Given the description of an element on the screen output the (x, y) to click on. 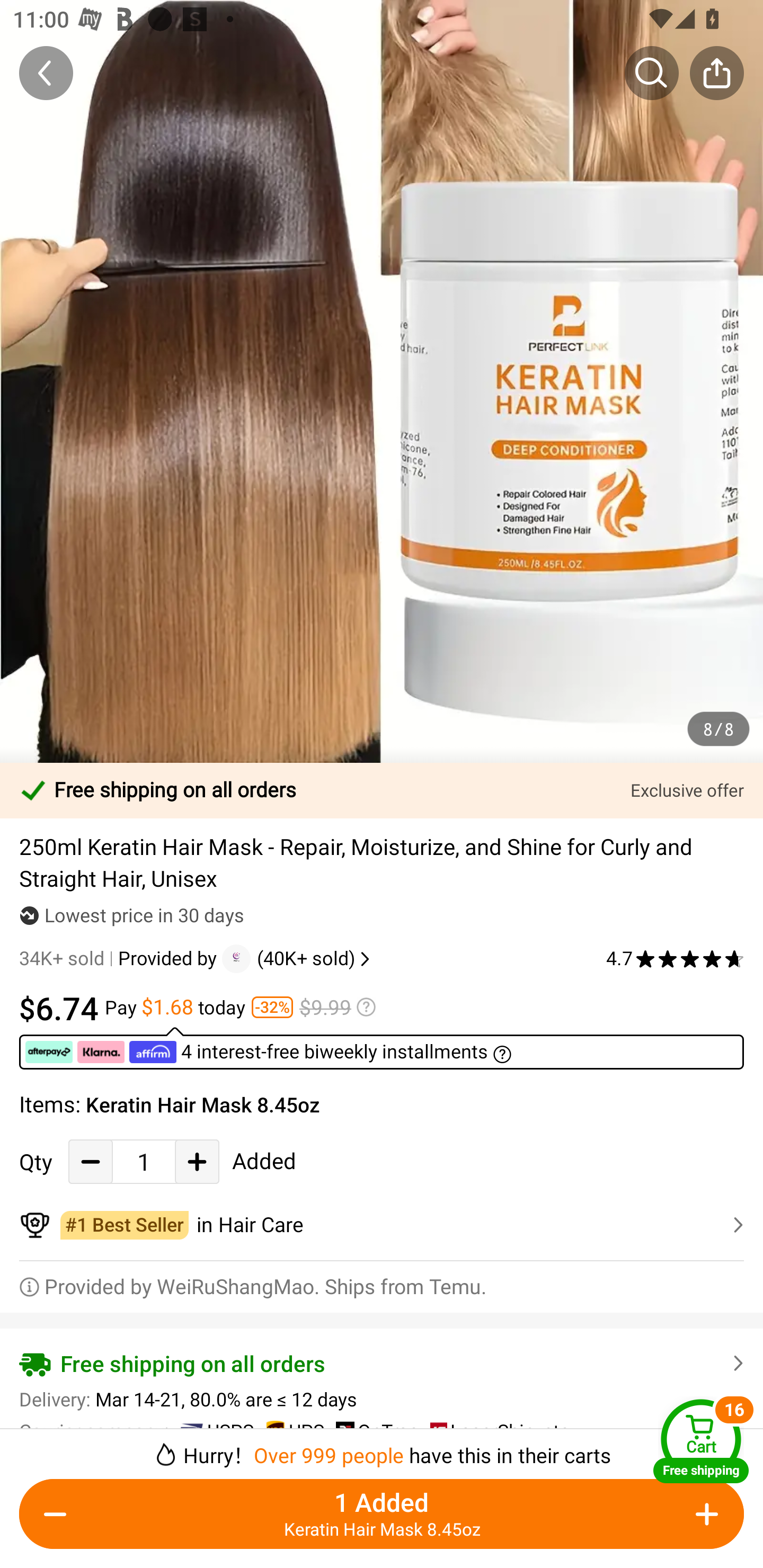
Back (46, 72)
Share (716, 72)
Free shipping on all orders Exclusive offer (381, 790)
34K+ sold Provided by  (120, 958)
4.7 (674, 958)
￼ ￼ ￼ 4 interest-free biweekly installments ￼ (381, 1048)
Decrease Quantity Button (90, 1161)
1 (143, 1161)
Add Quantity button (196, 1161)
￼￼in Hair Care (381, 1225)
Cart Free shipping Cart (701, 1440)
￼￼Hurry！Over 999 people have this in their carts (381, 1448)
Decrease Quantity Button (59, 1513)
Add Quantity button (703, 1513)
